Given the description of an element on the screen output the (x, y) to click on. 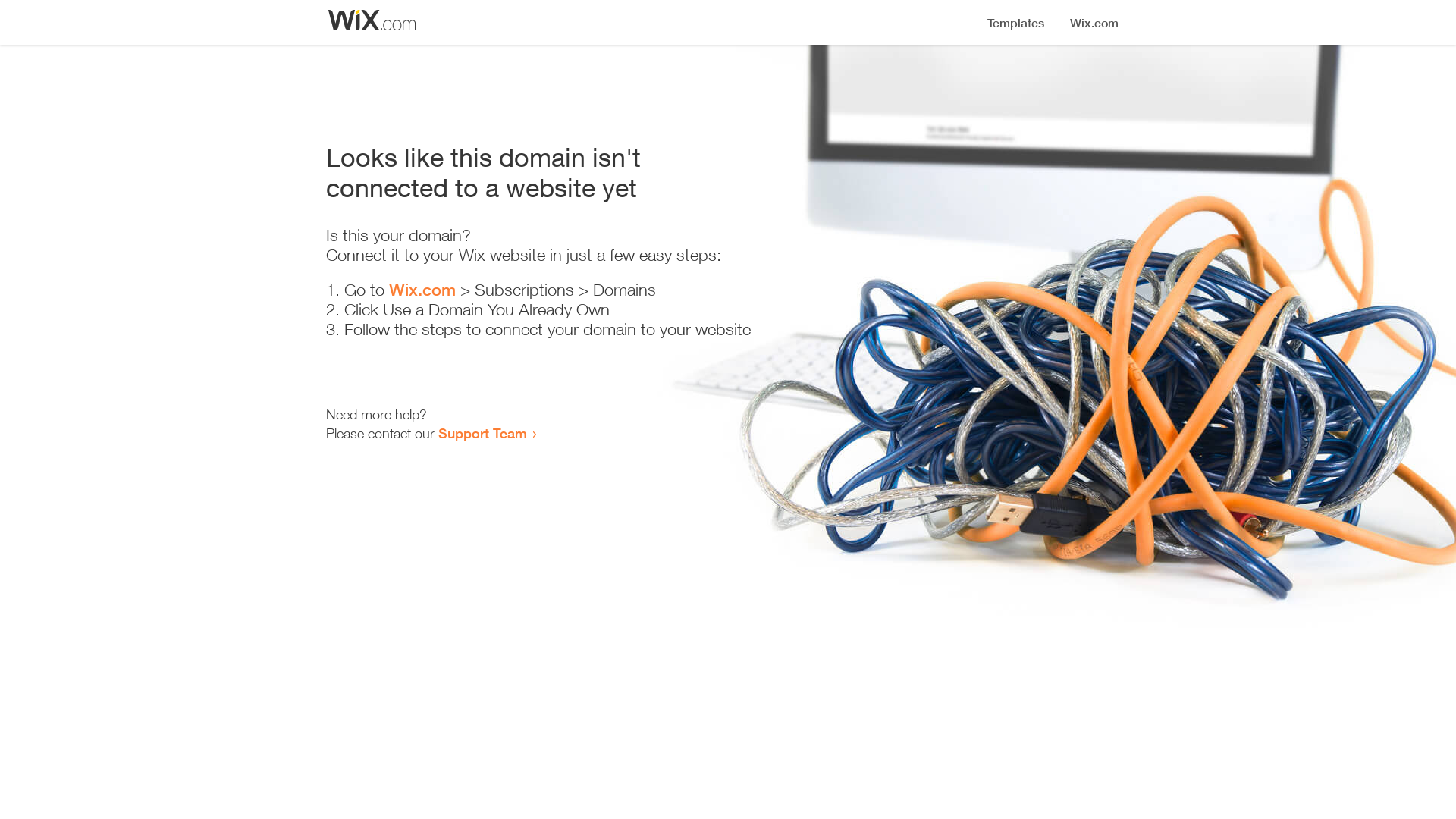
Support Team Element type: text (482, 432)
Wix.com Element type: text (422, 289)
